Given the description of an element on the screen output the (x, y) to click on. 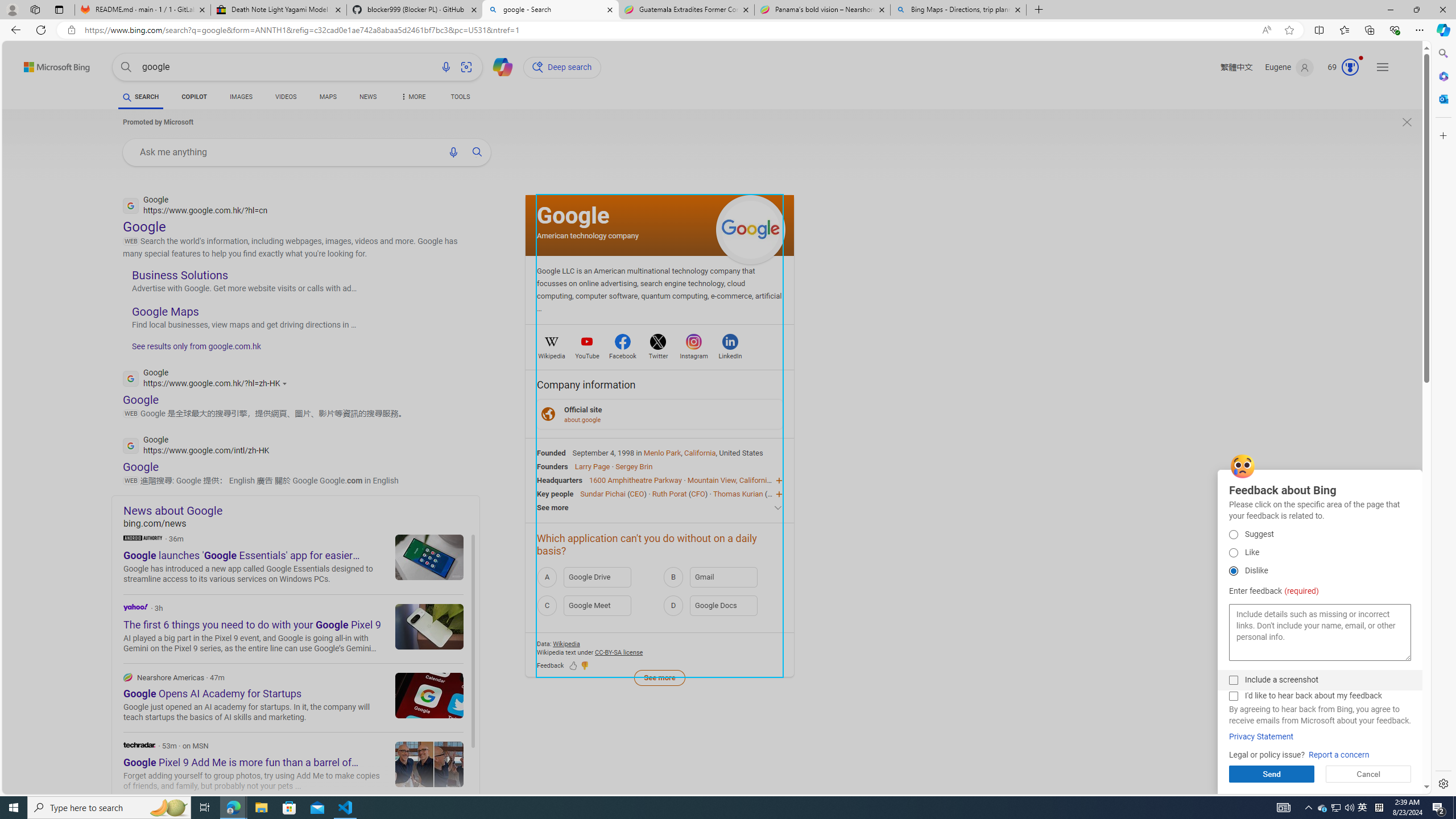
Include a screenshot (1232, 679)
Privacy Statement (1261, 737)
I'd like to hear back about my feedback (1232, 696)
Suggest (1232, 533)
